Given the description of an element on the screen output the (x, y) to click on. 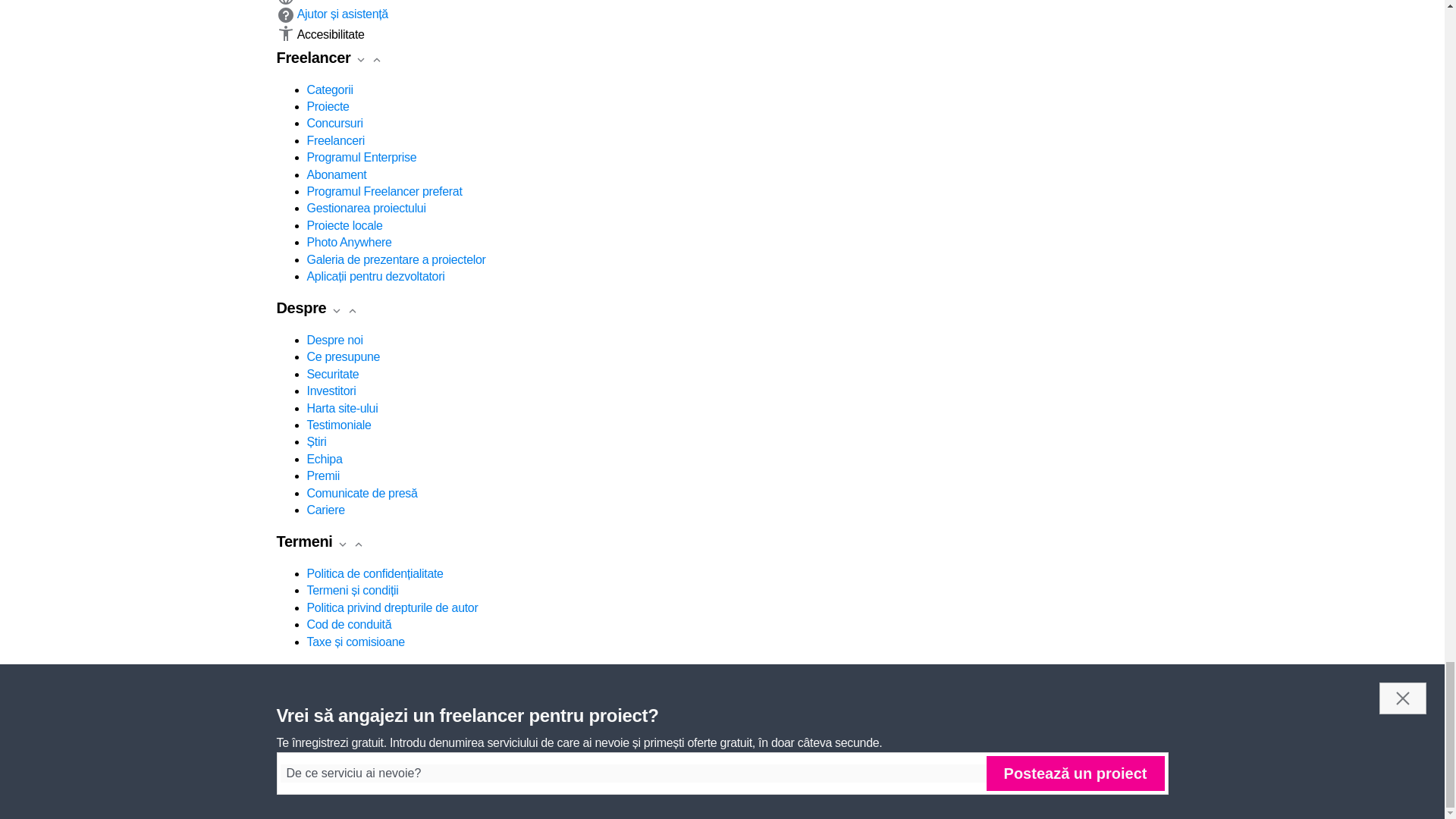
Freelancer pe Twitter (306, 721)
Freelancer pe Youtube (327, 721)
Freelancer pe Instagram (349, 721)
Freelancer pe Facebook (285, 721)
Ultimele proiecte (370, 721)
